Given the description of an element on the screen output the (x, y) to click on. 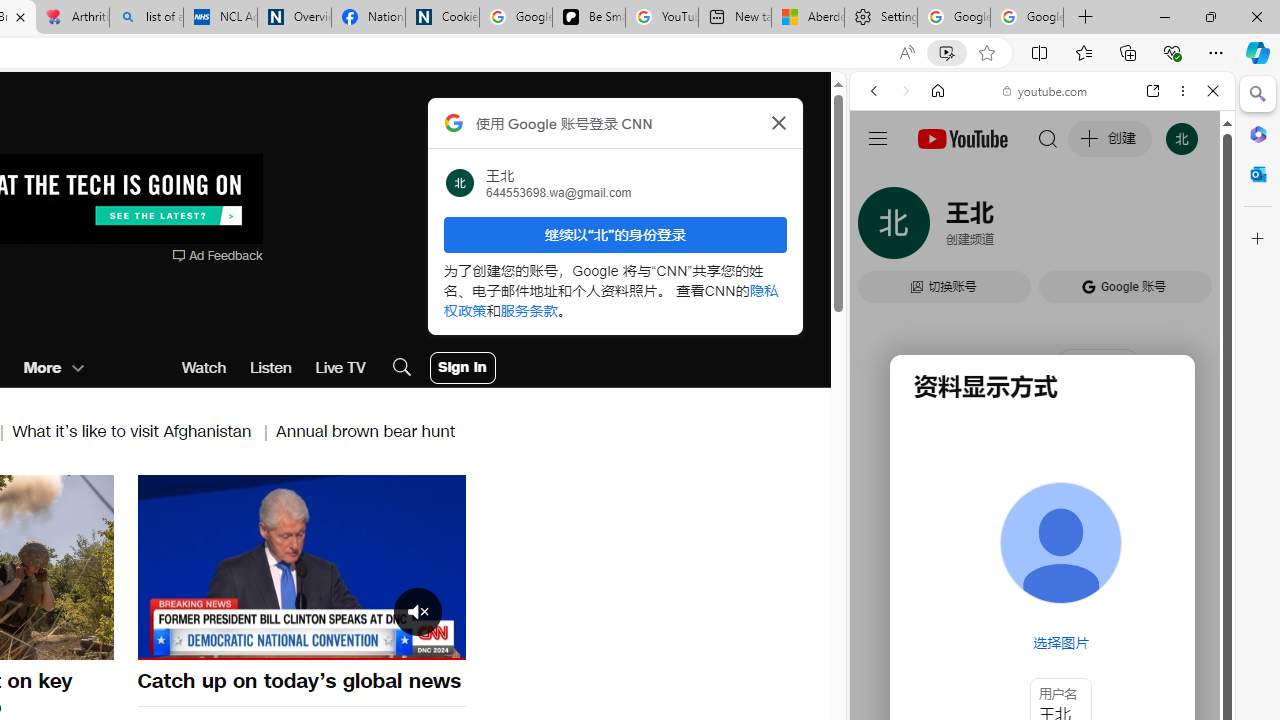
Cookies (441, 17)
Options (394, 642)
Show More Music (1164, 546)
Annual brown bear hunt (365, 430)
Search Icon (401, 367)
